Given the description of an element on the screen output the (x, y) to click on. 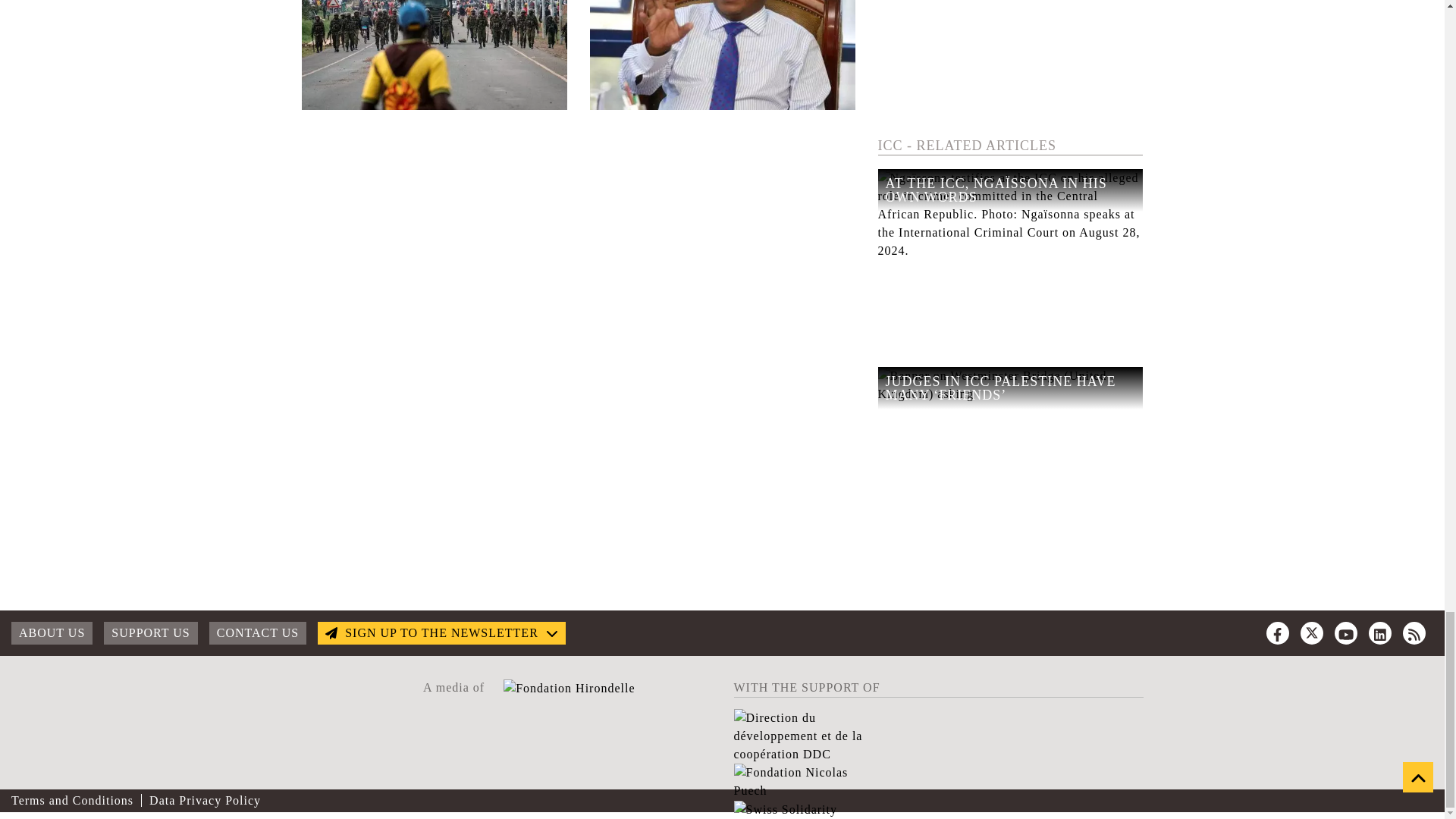
Twitter (1311, 632)
Facebook (1277, 632)
Youtube (1345, 632)
RSS (1414, 632)
LinkedIn (1379, 632)
